Given the description of an element on the screen output the (x, y) to click on. 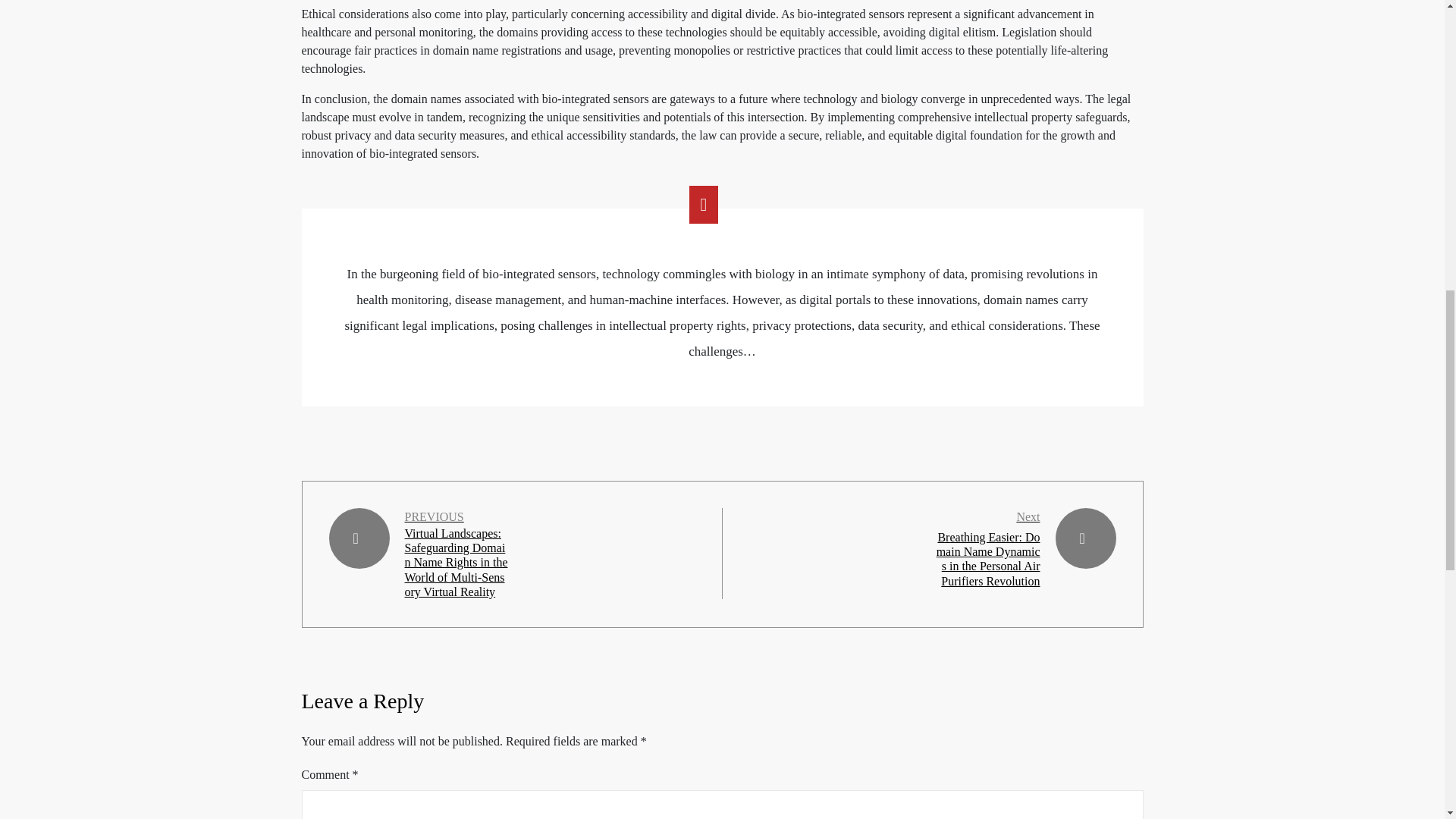
PREVIOUS (434, 516)
Next (1027, 516)
